Given the description of an element on the screen output the (x, y) to click on. 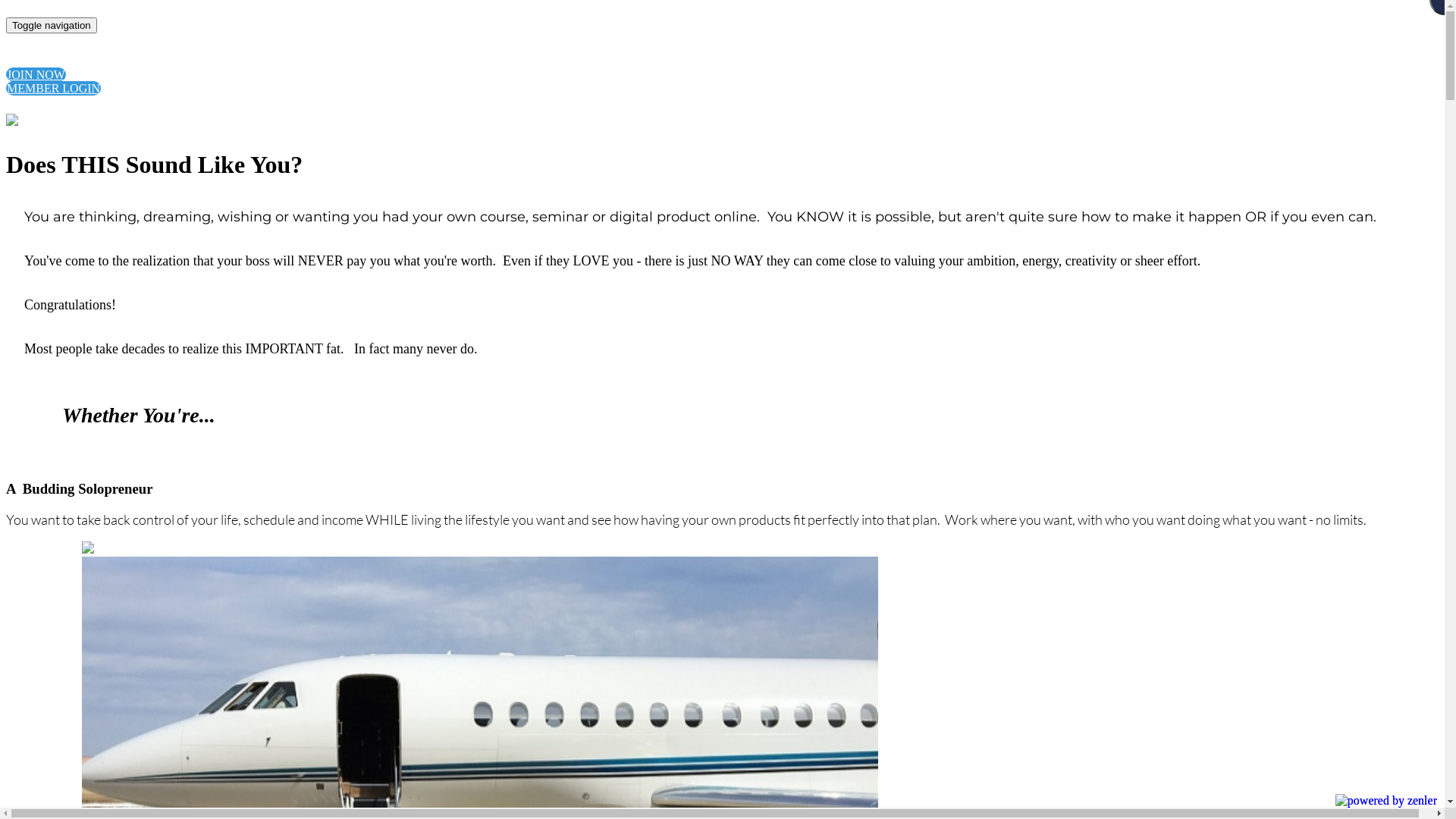
Toggle navigation Element type: text (51, 25)
JOIN NOW Element type: text (35, 74)
MEMBER LOGIN Element type: text (53, 88)
